Given the description of an element on the screen output the (x, y) to click on. 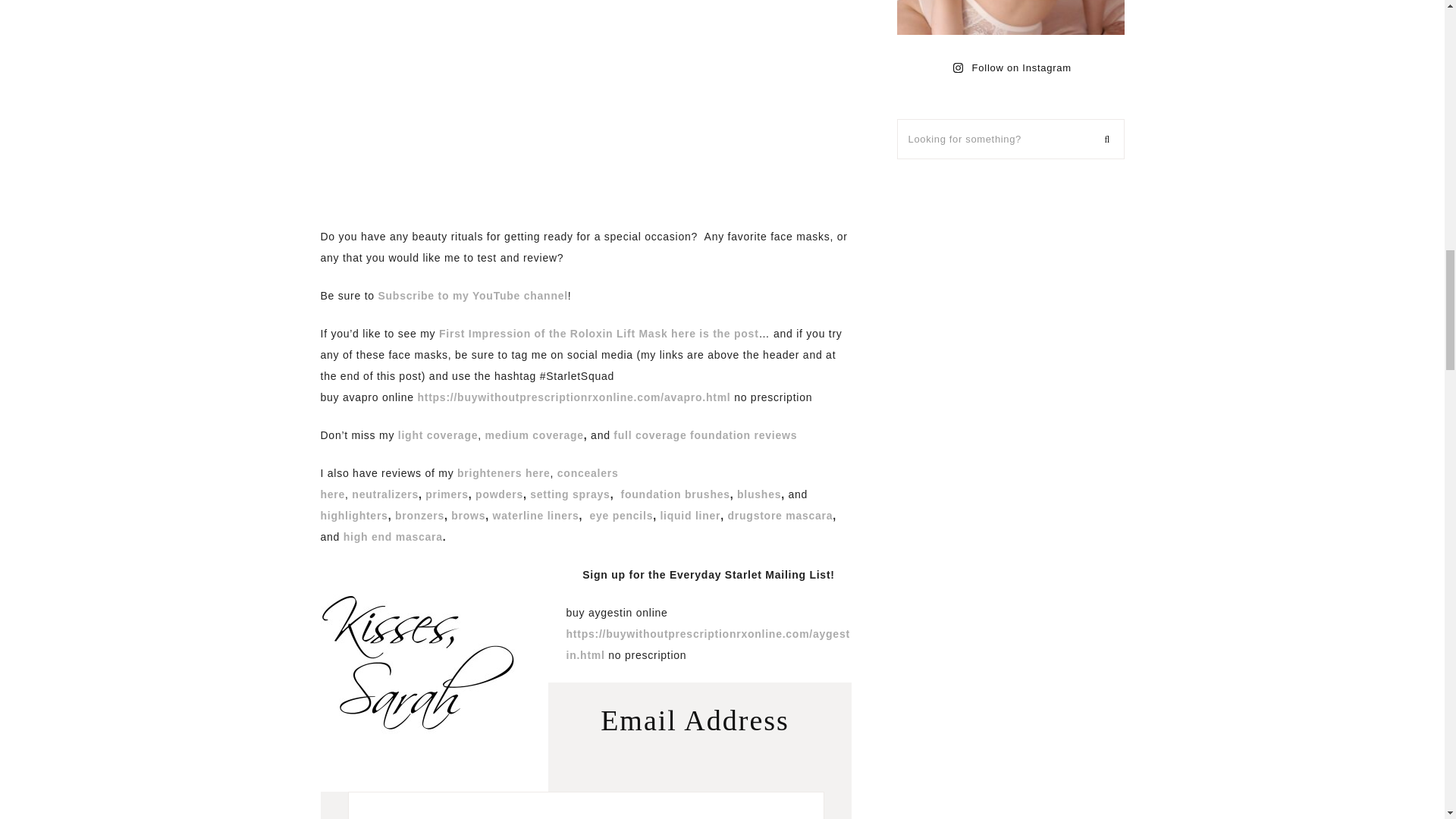
setting sprays (569, 494)
 powders (496, 494)
brighteners here (503, 472)
First Impression of the Roloxin Lift Mask here is the post (598, 333)
concealers here (468, 483)
light coverage (437, 435)
 primers (445, 494)
Subscribe to my YouTube channel (472, 295)
full coverage foundation reviews (704, 435)
neutralizers (385, 494)
medium coverage (533, 435)
